Given the description of an element on the screen output the (x, y) to click on. 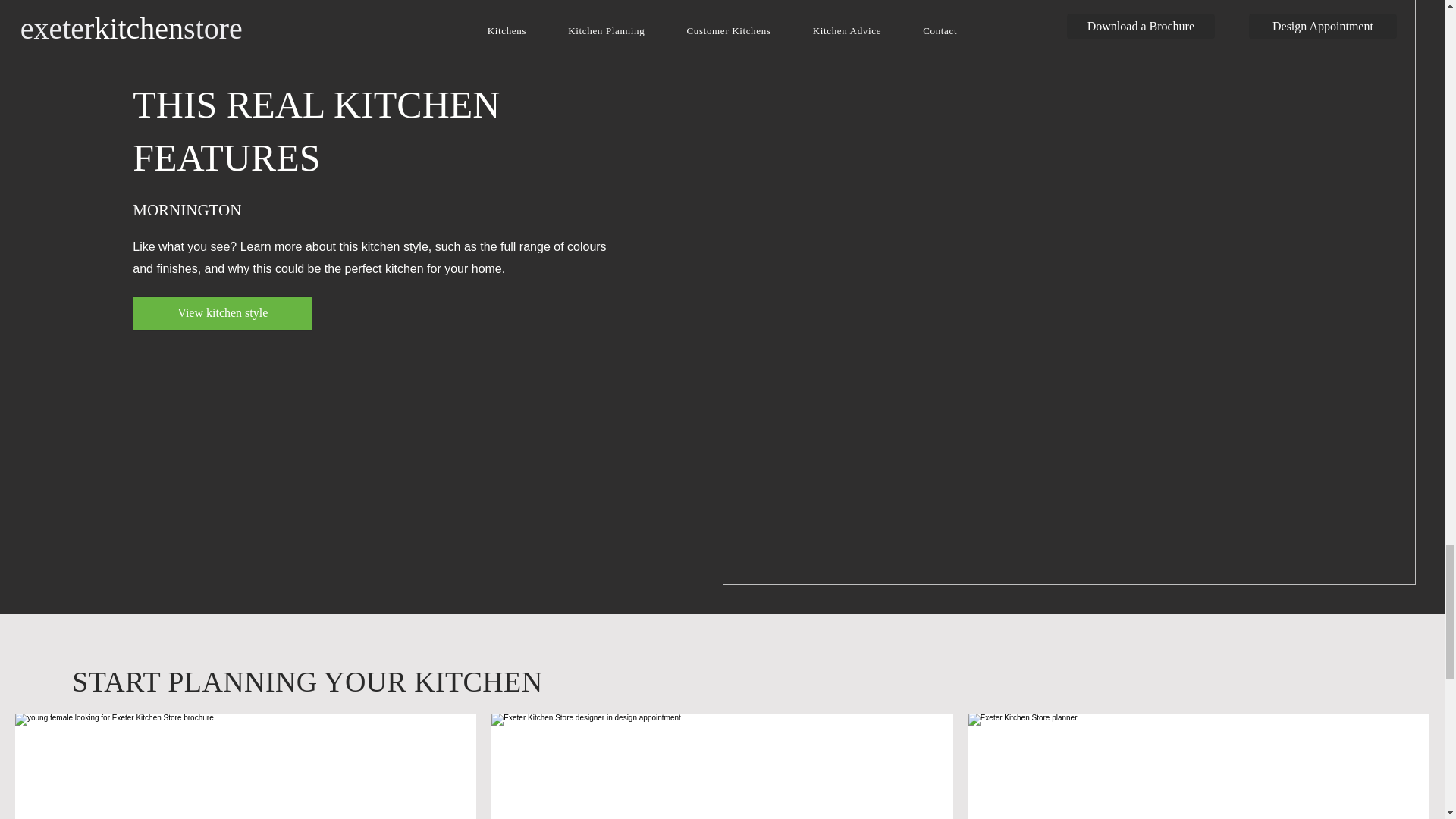
View kitchen style (222, 312)
